Given the description of an element on the screen output the (x, y) to click on. 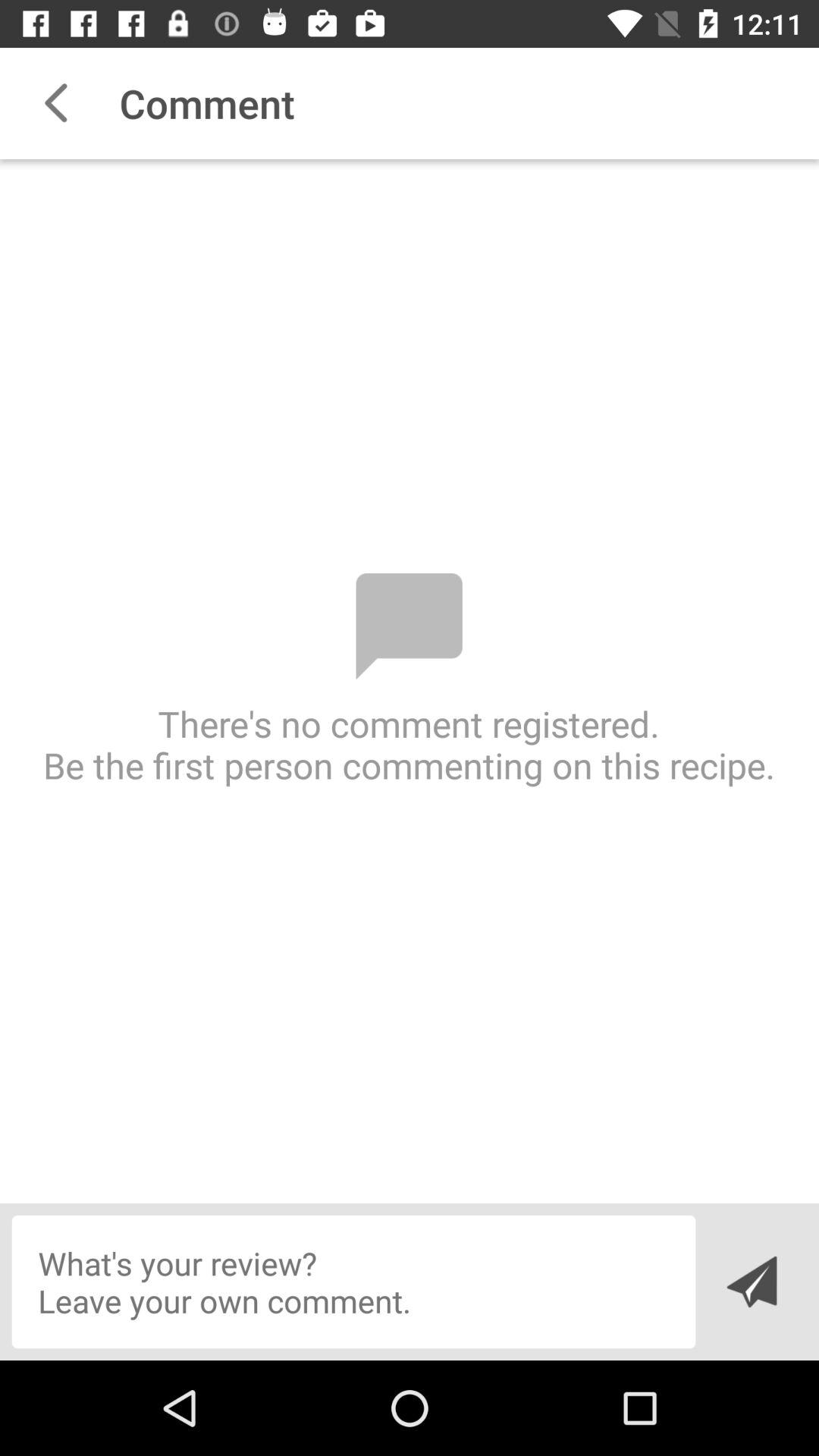
send message (751, 1281)
